Given the description of an element on the screen output the (x, y) to click on. 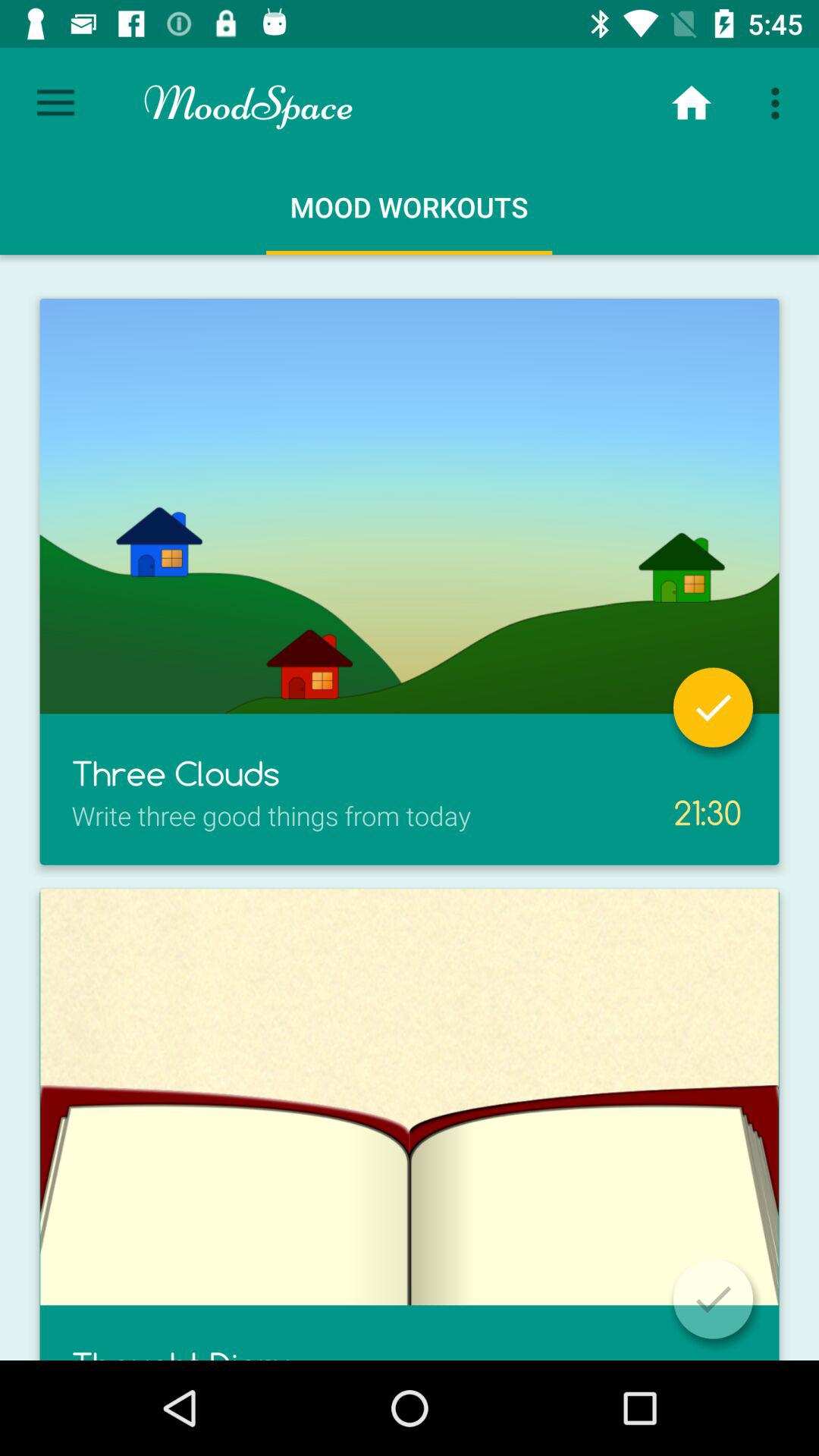
confirm selection (713, 1298)
